Given the description of an element on the screen output the (x, y) to click on. 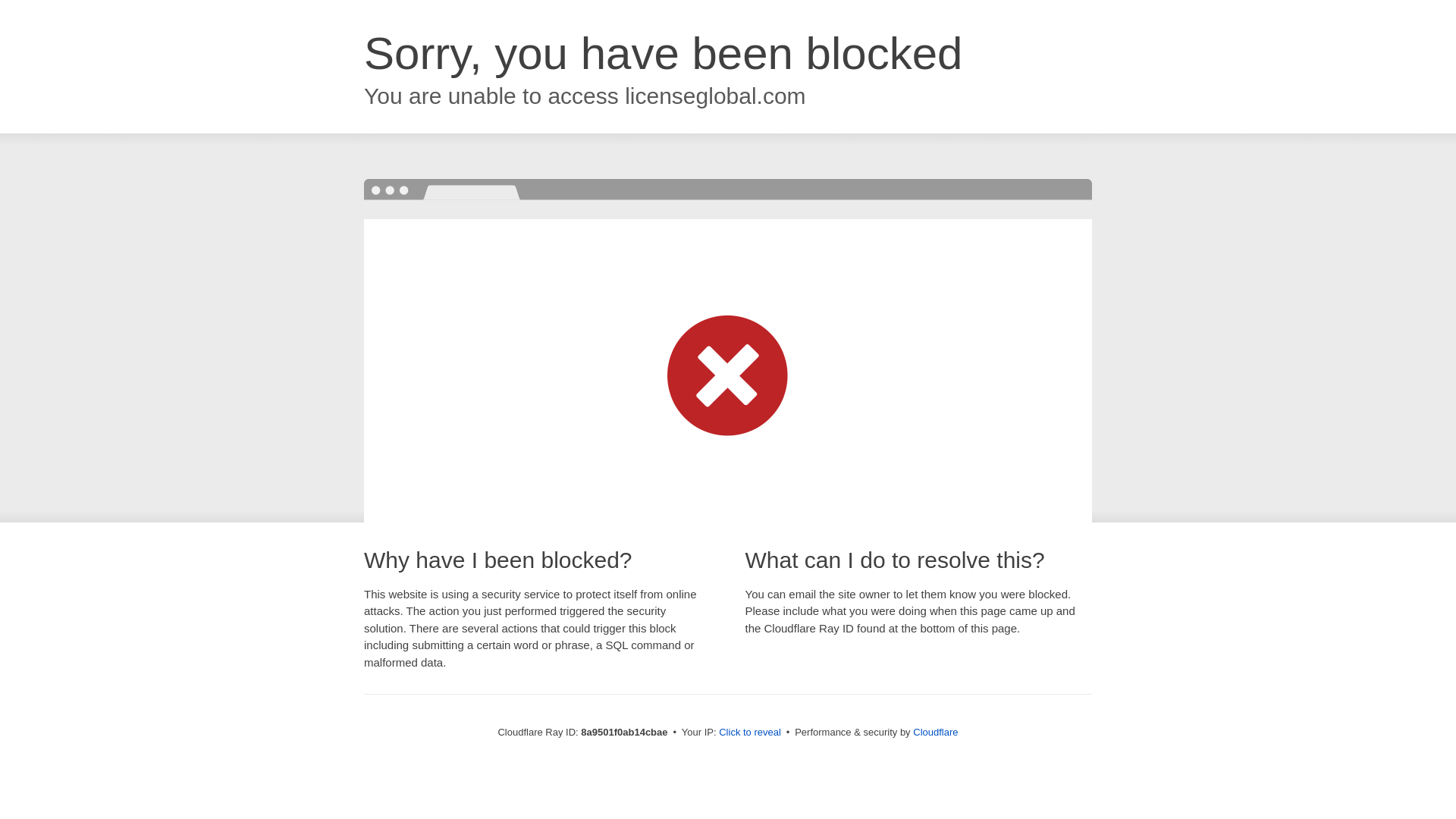
Click to reveal (749, 732)
Cloudflare (935, 731)
